Given the description of an element on the screen output the (x, y) to click on. 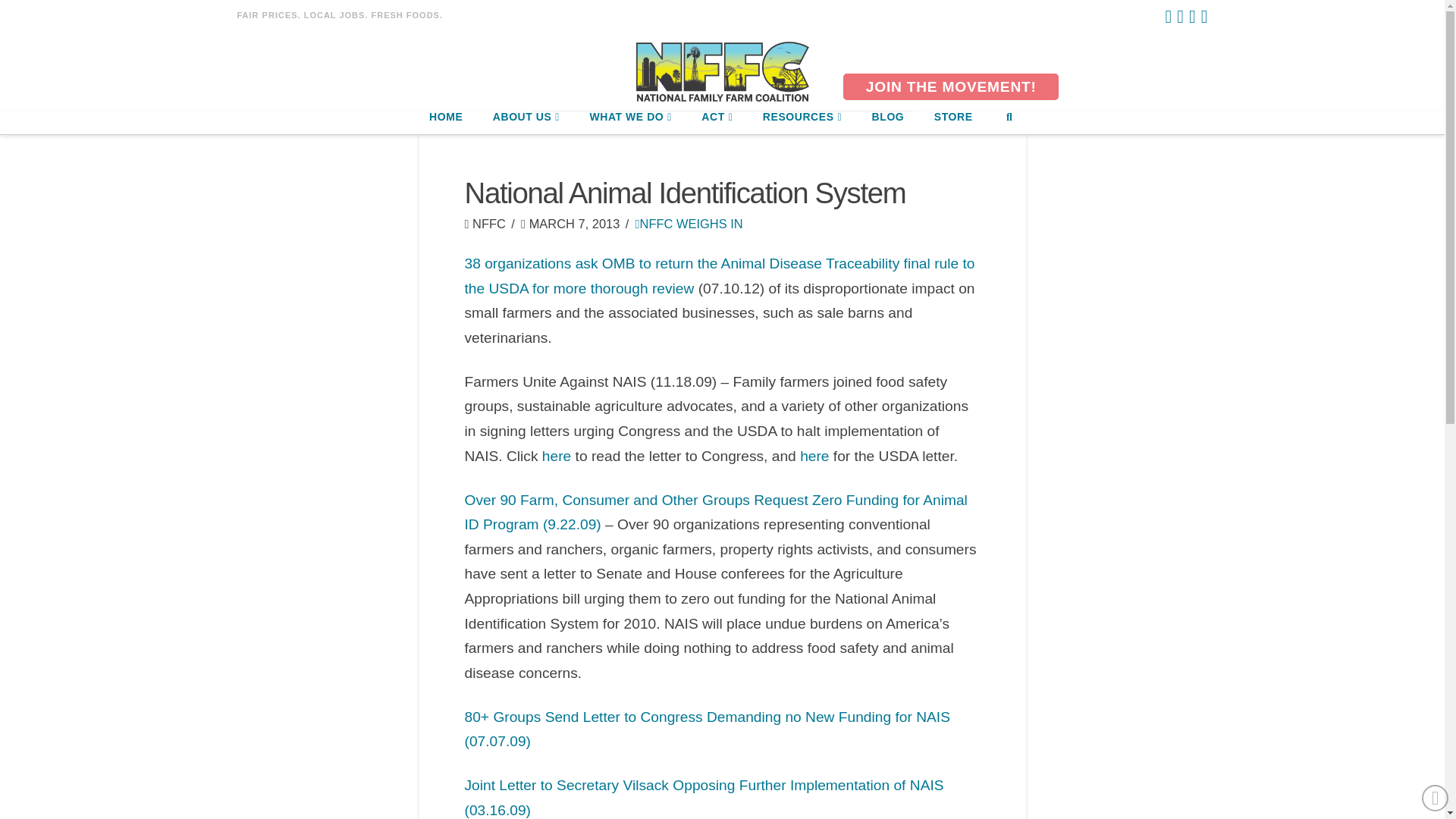
JOIN THE MOVEMENT! (950, 86)
STORE (952, 122)
ACT (715, 122)
WHAT WE DO (629, 122)
HOME (445, 122)
ABOUT US (526, 122)
BLOG (887, 122)
RESOURCES (802, 122)
